Given the description of an element on the screen output the (x, y) to click on. 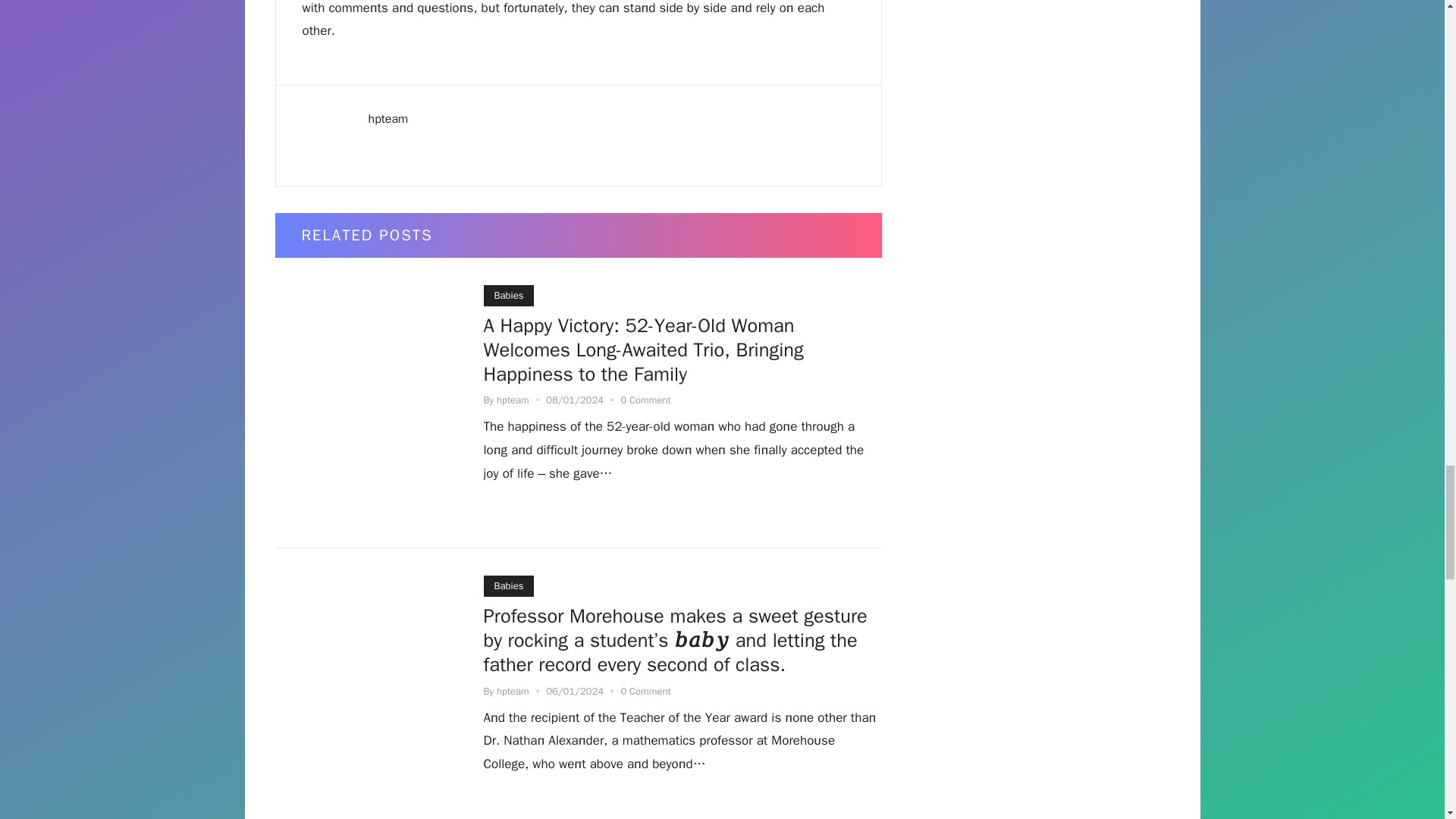
Posts by hpteam (512, 690)
Posts by hpteam (512, 399)
0 Comment (644, 690)
0 Comment (644, 399)
Babies (508, 295)
hpteam (512, 690)
hpteam (388, 118)
hpteam (512, 399)
Babies (508, 586)
